Given the description of an element on the screen output the (x, y) to click on. 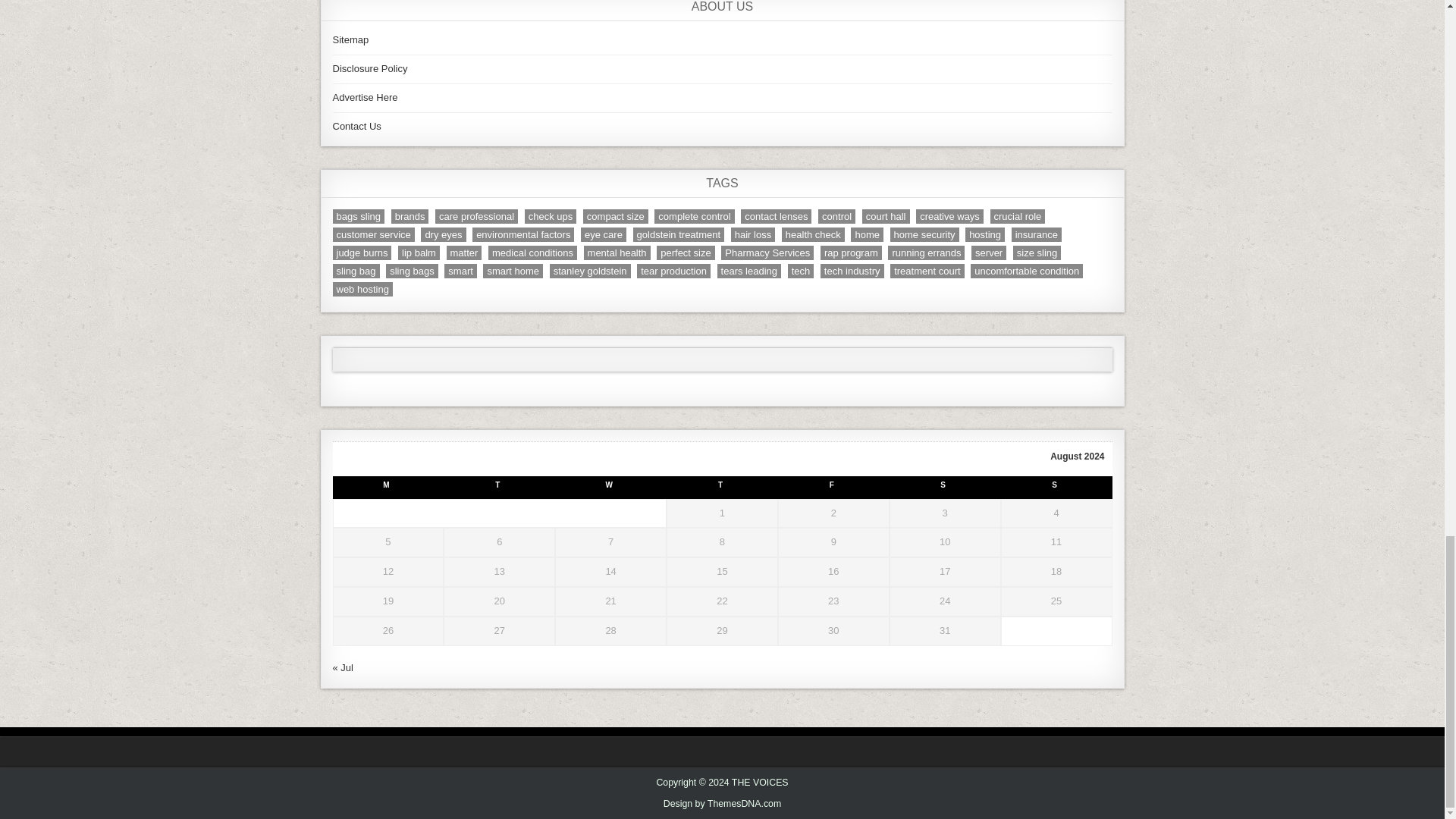
Friday (833, 486)
Thursday (721, 486)
Sunday (1056, 486)
Saturday (945, 486)
Wednesday (610, 486)
Monday (387, 486)
Tuesday (499, 486)
